Given the description of an element on the screen output the (x, y) to click on. 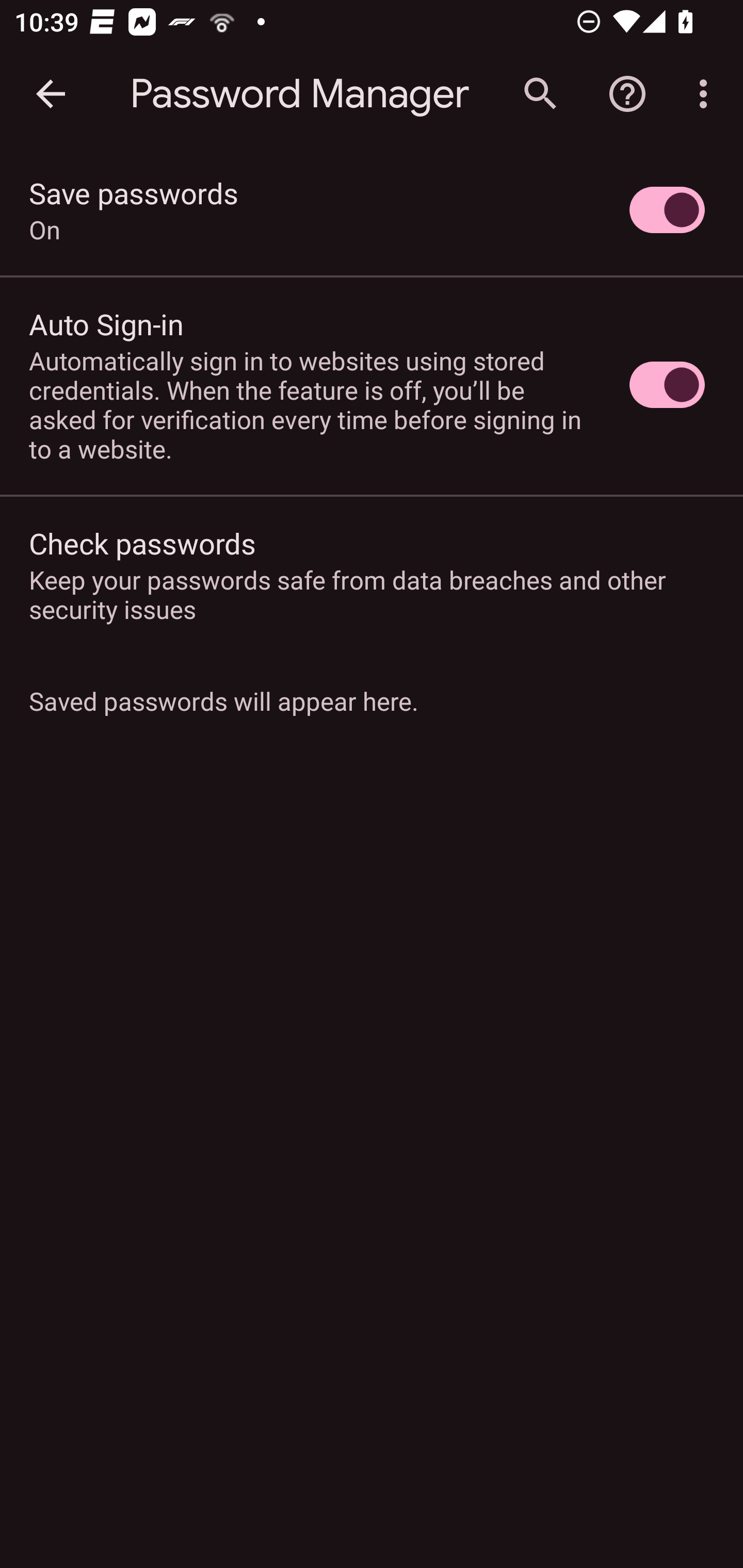
Navigate up (50, 93)
Search (540, 93)
Help & feedback (626, 93)
More options (706, 93)
Save passwords On (371, 209)
